Given the description of an element on the screen output the (x, y) to click on. 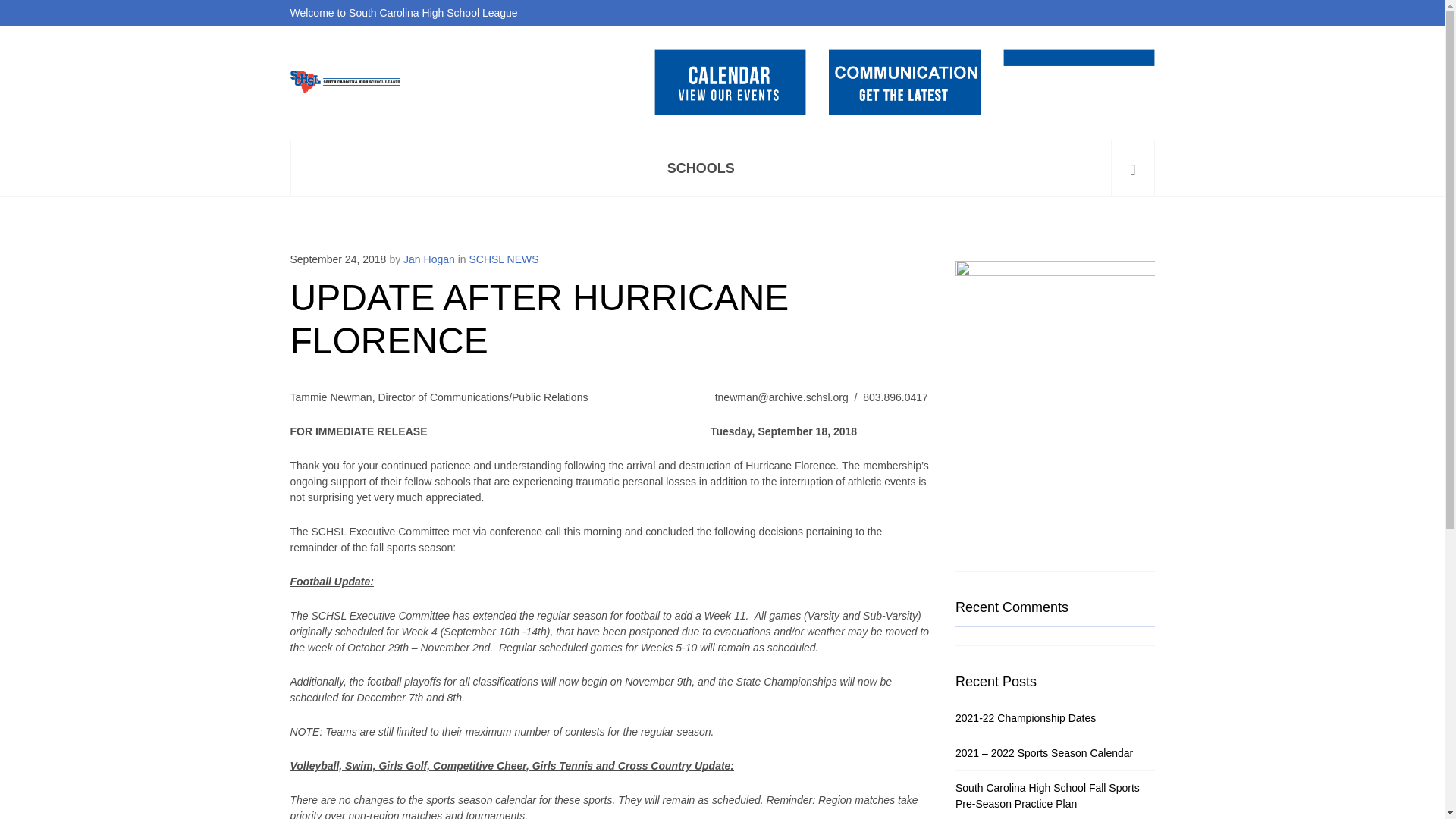
SCHOOLS (701, 168)
Jan Hogan (428, 259)
SCHSL NEWS (503, 259)
2021-22 Championship Dates (1025, 717)
September 24, 2018 (337, 259)
